Given the description of an element on the screen output the (x, y) to click on. 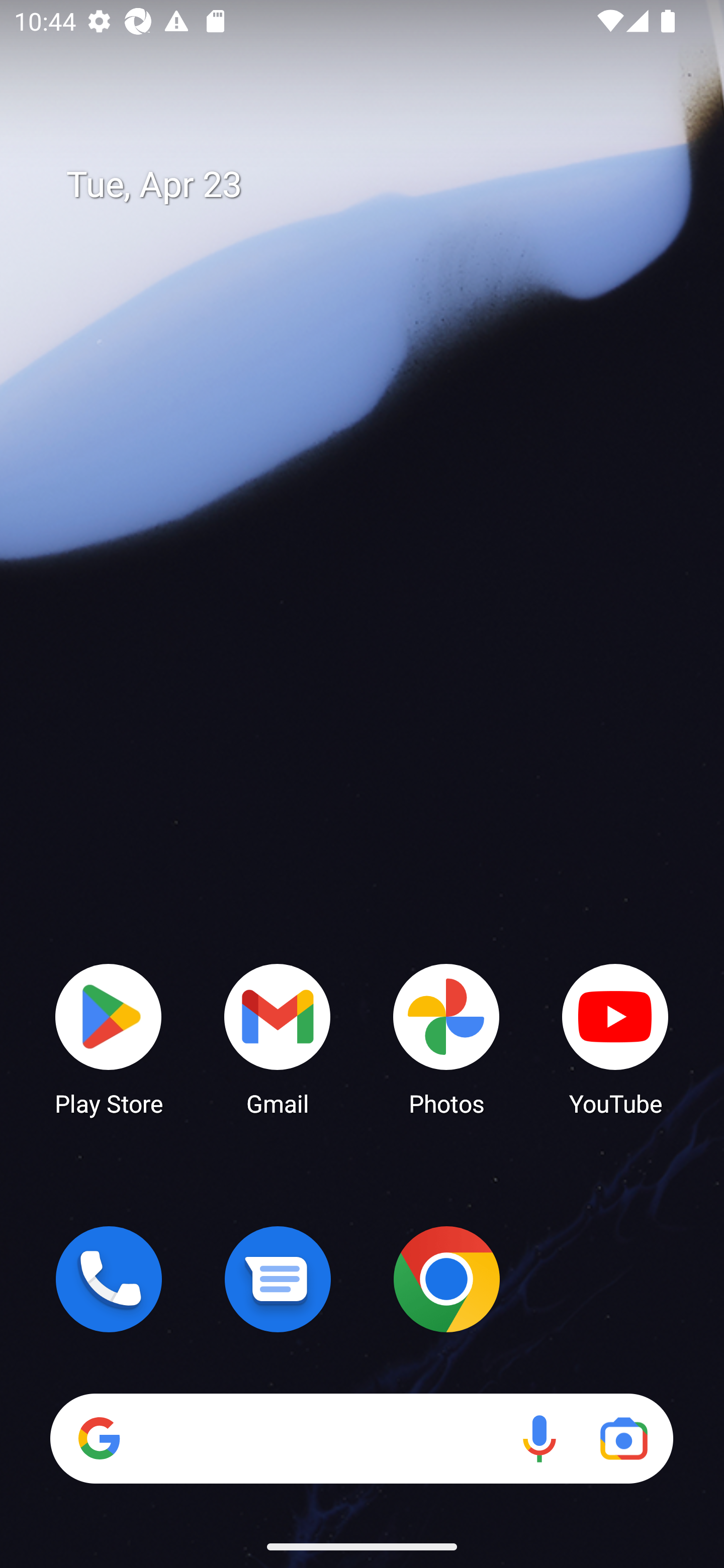
Tue, Apr 23 (375, 184)
Play Store (108, 1038)
Gmail (277, 1038)
Photos (445, 1038)
YouTube (615, 1038)
Phone (108, 1279)
Messages (277, 1279)
Chrome (446, 1279)
Search Voice search Google Lens (361, 1438)
Voice search (539, 1438)
Google Lens (623, 1438)
